Given the description of an element on the screen output the (x, y) to click on. 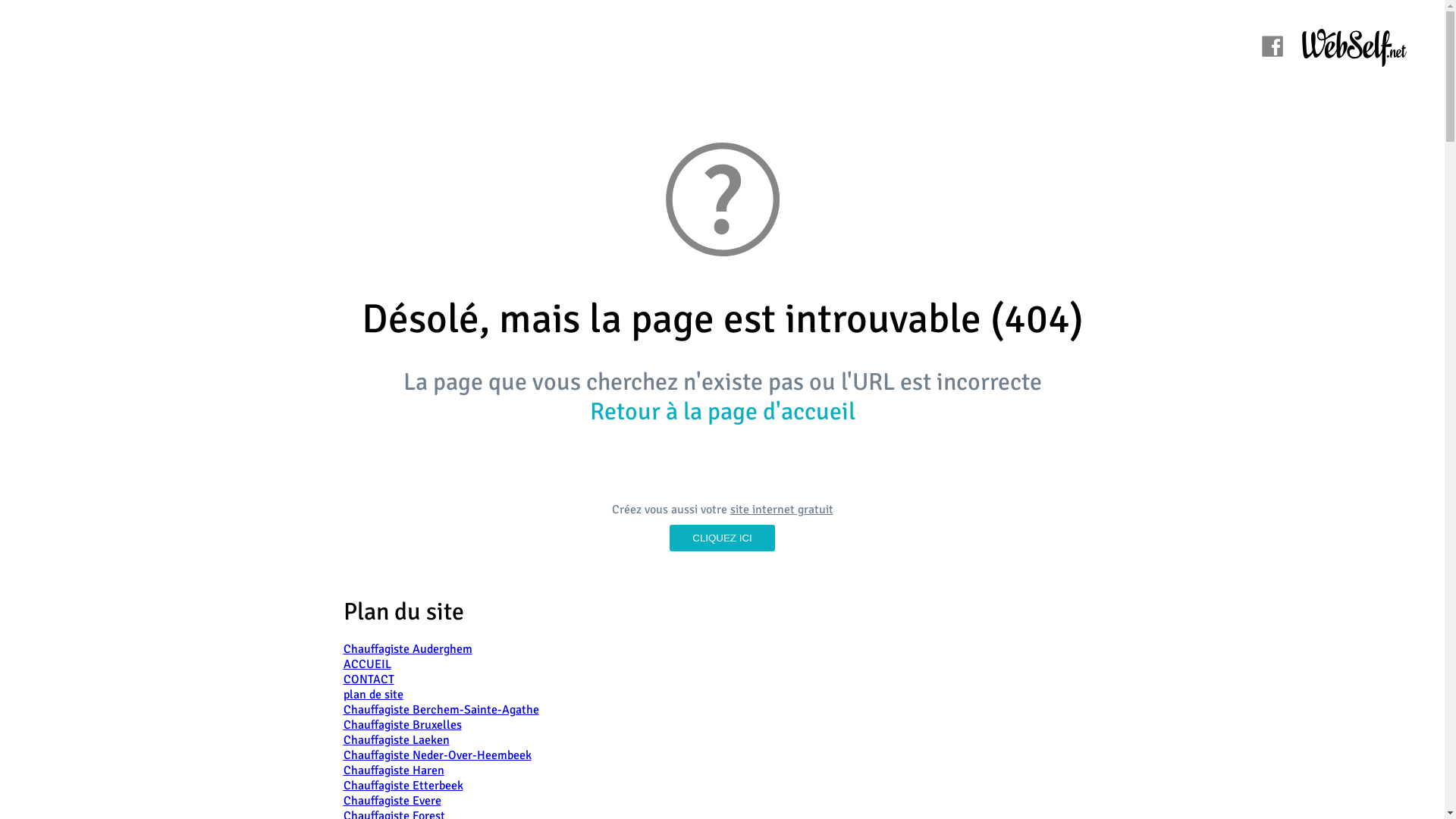
CONTACT Element type: text (367, 679)
Chauffagiste Etterbeek Element type: text (402, 785)
Chauffagiste Neder-Over-Heembeek Element type: text (436, 754)
Chauffagiste Bruxelles Element type: text (401, 724)
Chauffagiste Berchem-Sainte-Agathe Element type: text (440, 709)
Cliquez ici Element type: text (722, 537)
Chauffagiste Haren Element type: text (392, 770)
Chauffagiste Evere Element type: text (391, 800)
ACCUEIL Element type: text (366, 663)
plan de site Element type: text (372, 694)
Chauffagiste Auderghem Element type: text (406, 648)
site internet gratuit Element type: text (780, 509)
Chauffagiste Laeken Element type: text (395, 739)
